Given the description of an element on the screen output the (x, y) to click on. 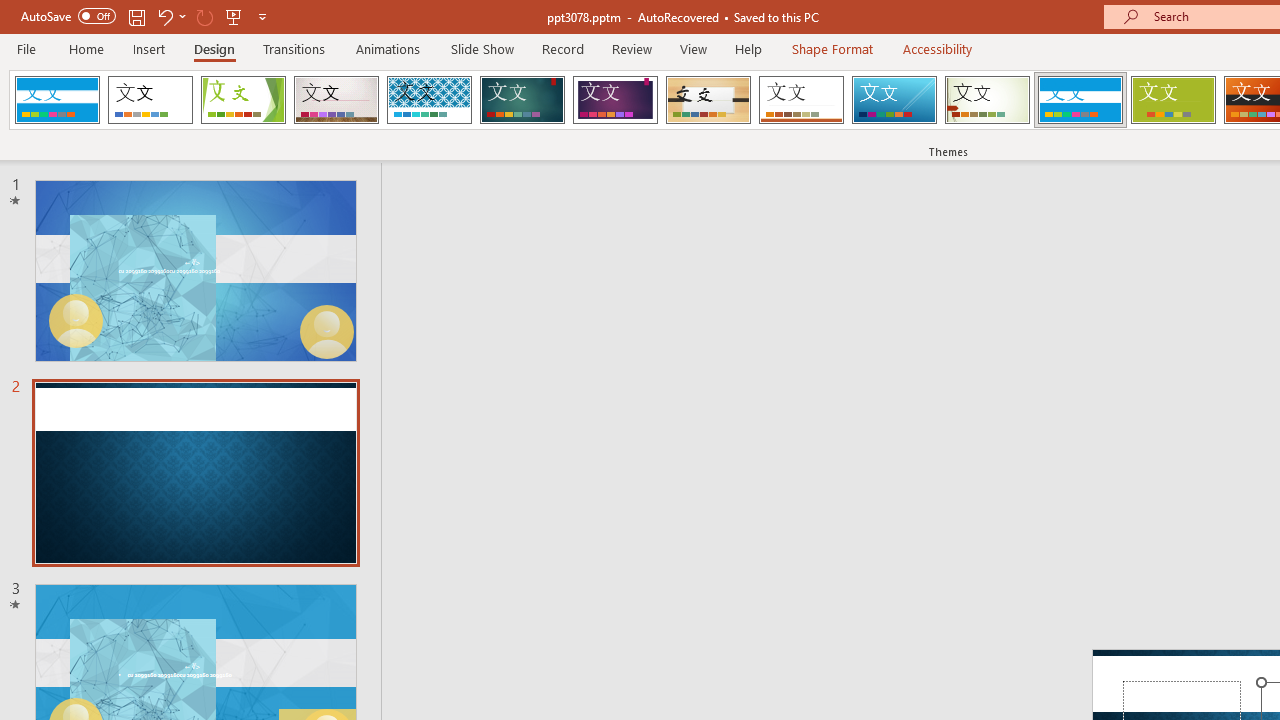
Gallery (336, 100)
Retrospect (801, 100)
Banded (1080, 100)
Ion Boardroom (615, 100)
Slice (893, 100)
Facet (243, 100)
Dividend (57, 100)
